Given the description of an element on the screen output the (x, y) to click on. 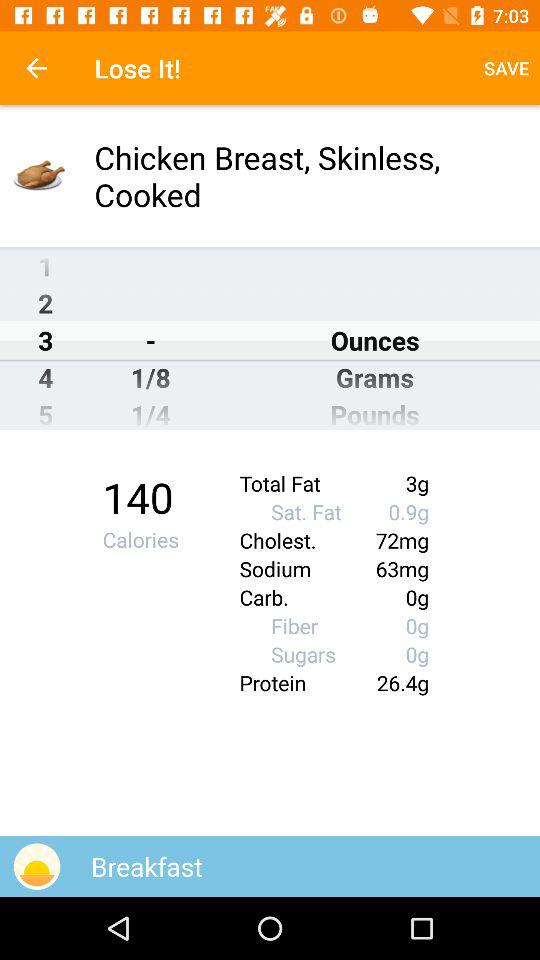
open the save (506, 67)
